Given the description of an element on the screen output the (x, y) to click on. 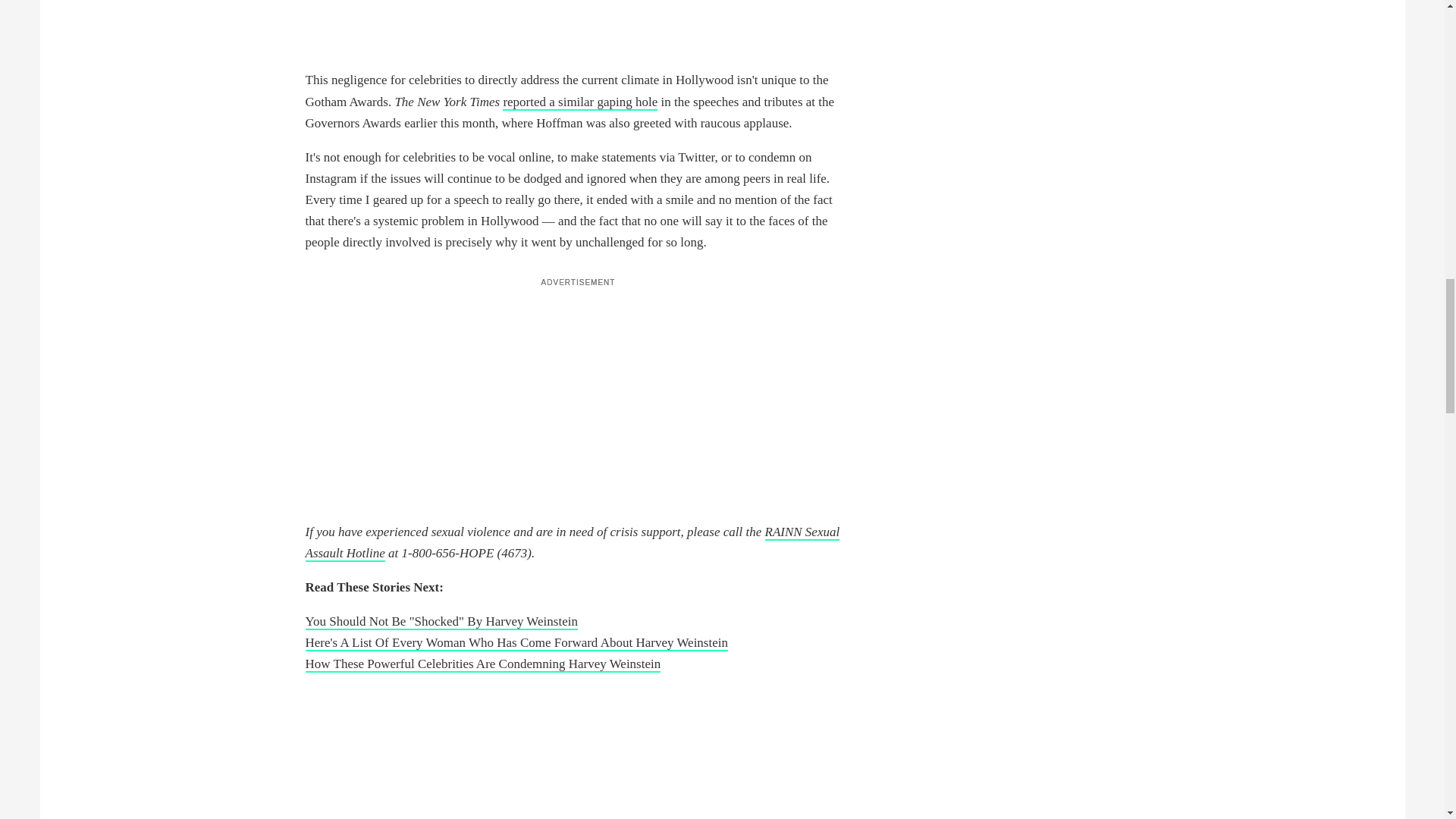
reported a similar gaping hole (580, 101)
RAINN Sexual Assault Hotline (572, 542)
You Should Not Be "Shocked" By Harvey Weinstein (440, 621)
